Given the description of an element on the screen output the (x, y) to click on. 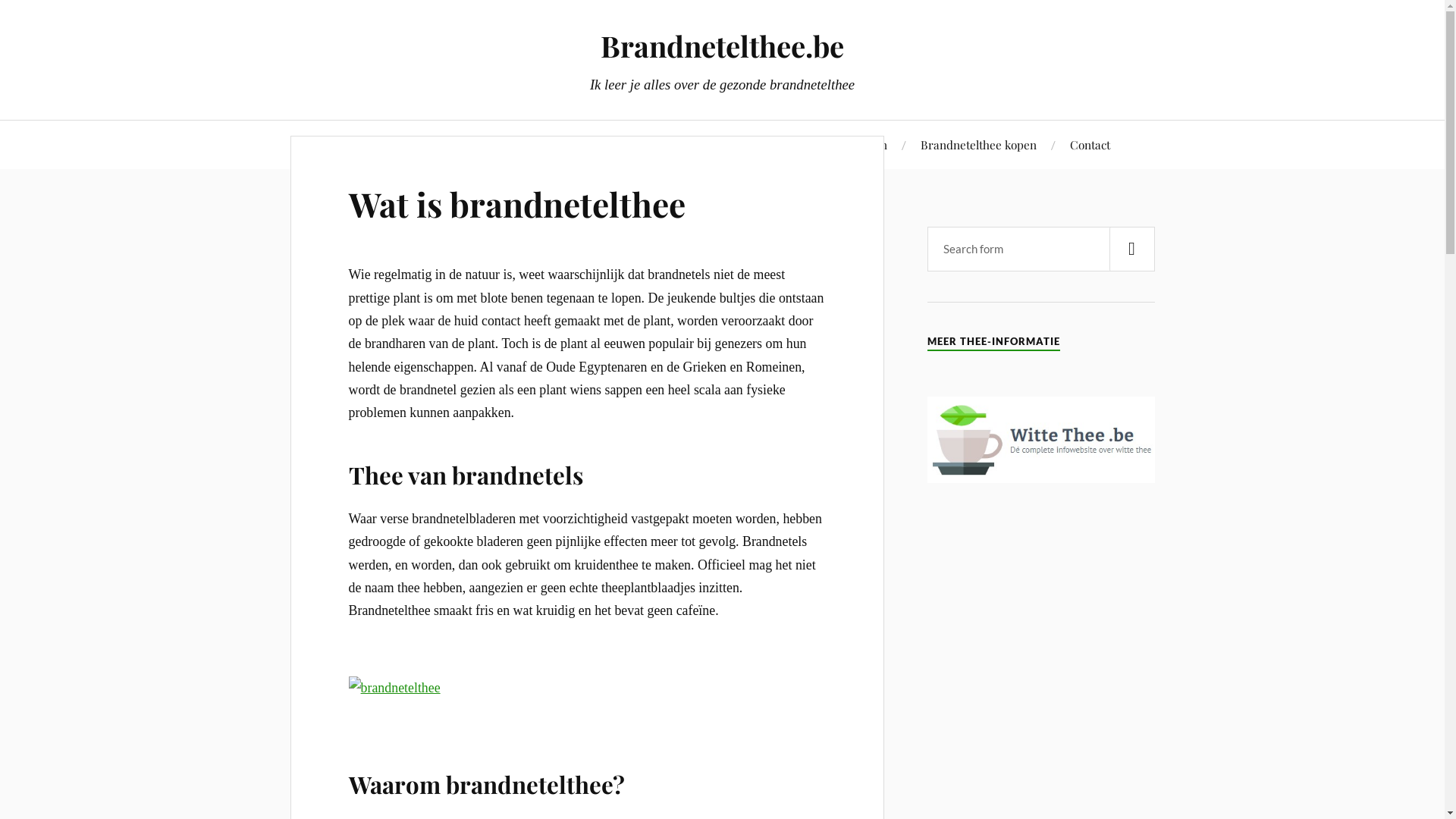
Brandnetelthee drinken Element type: text (511, 144)
Brandnetelthee gezond? Element type: text (670, 144)
Brandnetelthee.be Element type: text (722, 45)
Brandnetelthee maken Element type: text (827, 144)
Wat is brandnetelthee Element type: text (516, 203)
Contact Element type: text (1090, 144)
Brandnetelthee kopen Element type: text (978, 144)
Brandnetelthee Element type: text (374, 144)
